Given the description of an element on the screen output the (x, y) to click on. 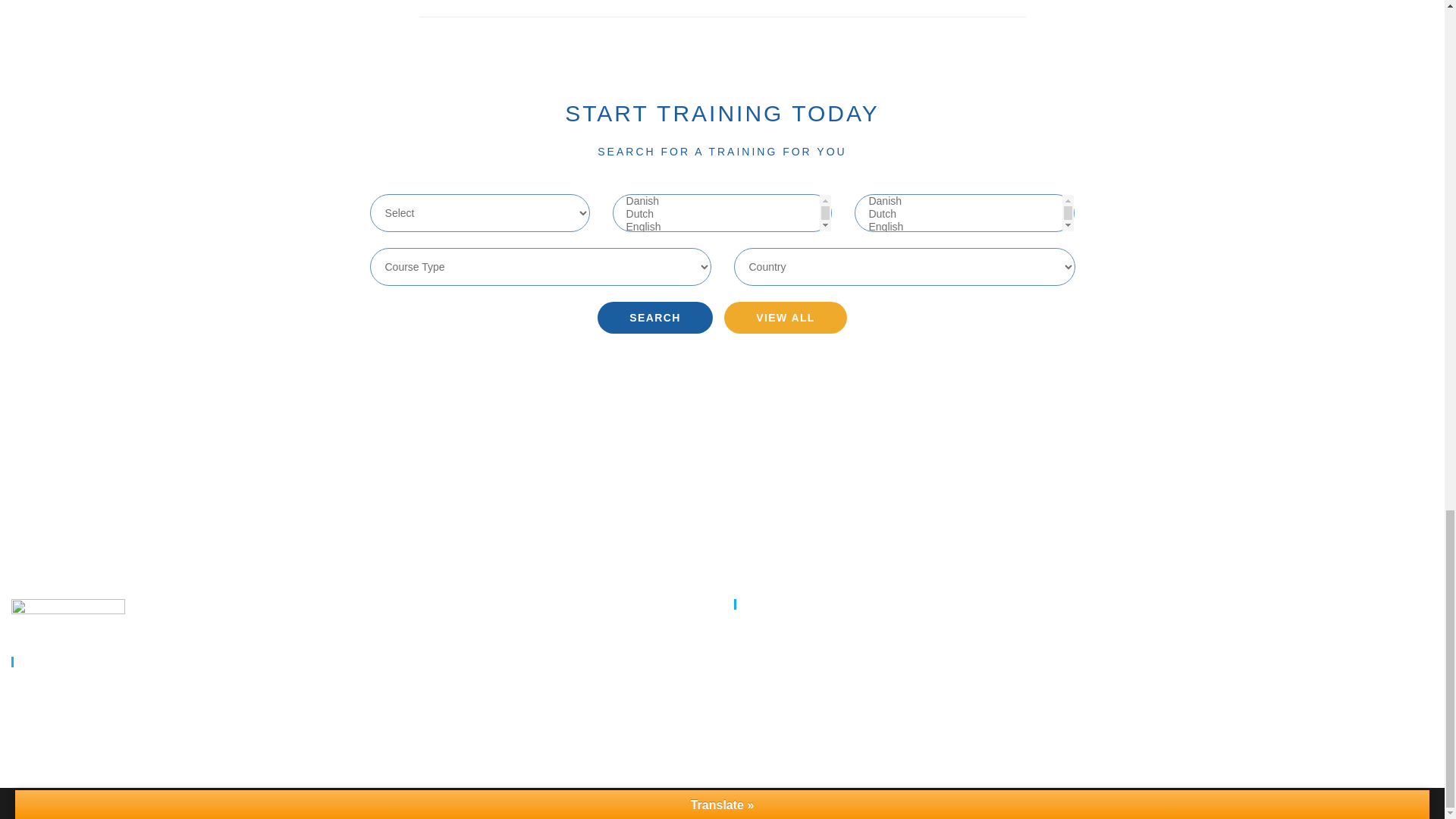
VIEW ALL (785, 317)
PROFESSIONAL DEVELOPMENT (1083, 637)
SEARCH (654, 317)
TERMS OF SERVICE AGREEMENT (1083, 750)
IMAGORELATIONSHIP.ORG (1083, 666)
SEE INSTRUCTORS (1083, 694)
FACULTY LOGIN (1083, 722)
